Given the description of an element on the screen output the (x, y) to click on. 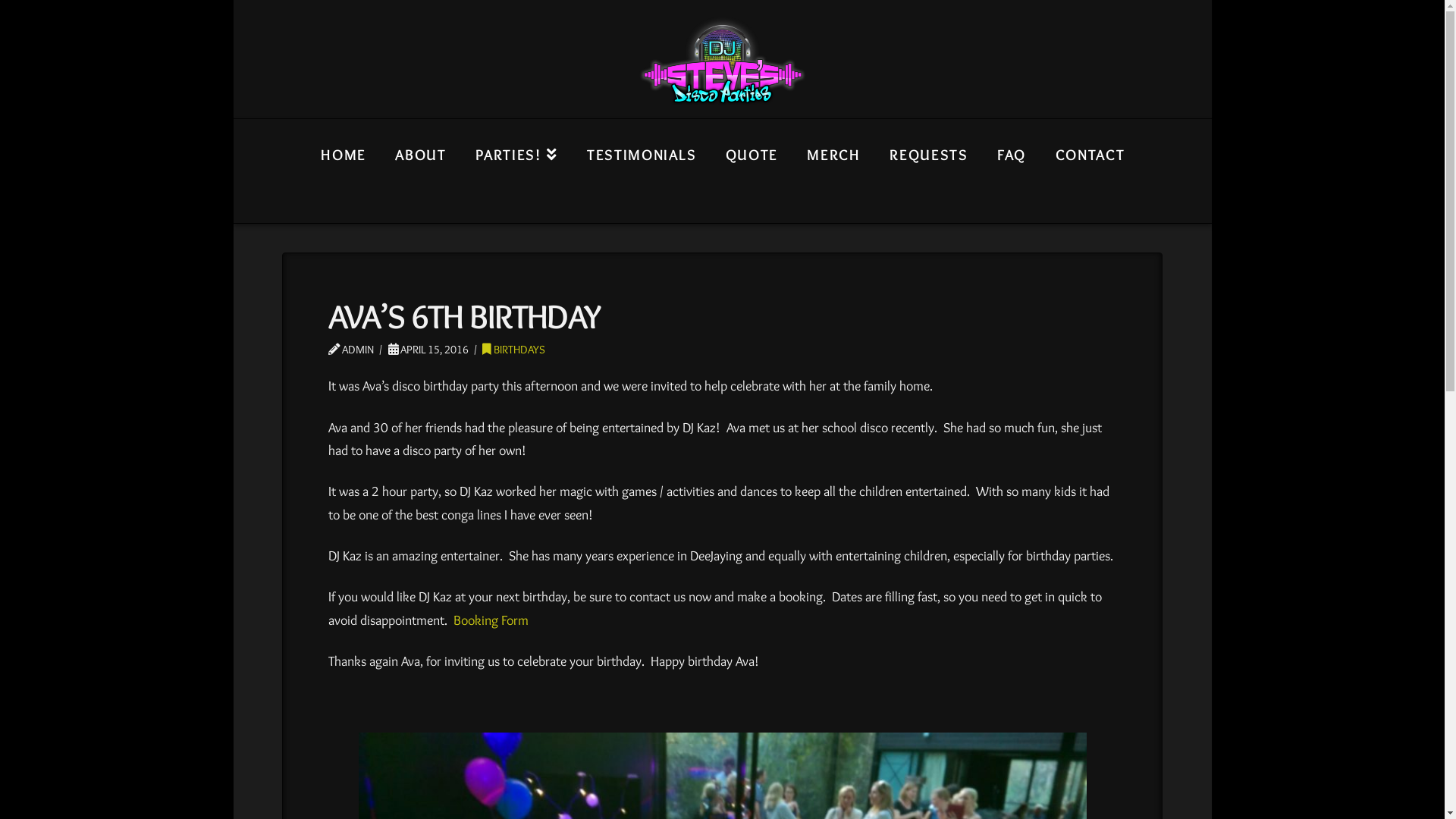
TESTIMONIALS Element type: text (640, 170)
BIRTHDAYS Element type: text (513, 349)
CONTACT Element type: text (1089, 170)
PARTIES! Element type: text (515, 170)
HOME Element type: text (342, 170)
ABOUT Element type: text (419, 170)
Booking Form Element type: text (490, 619)
FAQ Element type: text (1010, 170)
QUOTE Element type: text (751, 170)
REQUESTS Element type: text (928, 170)
MERCH Element type: text (832, 170)
